Given the description of an element on the screen output the (x, y) to click on. 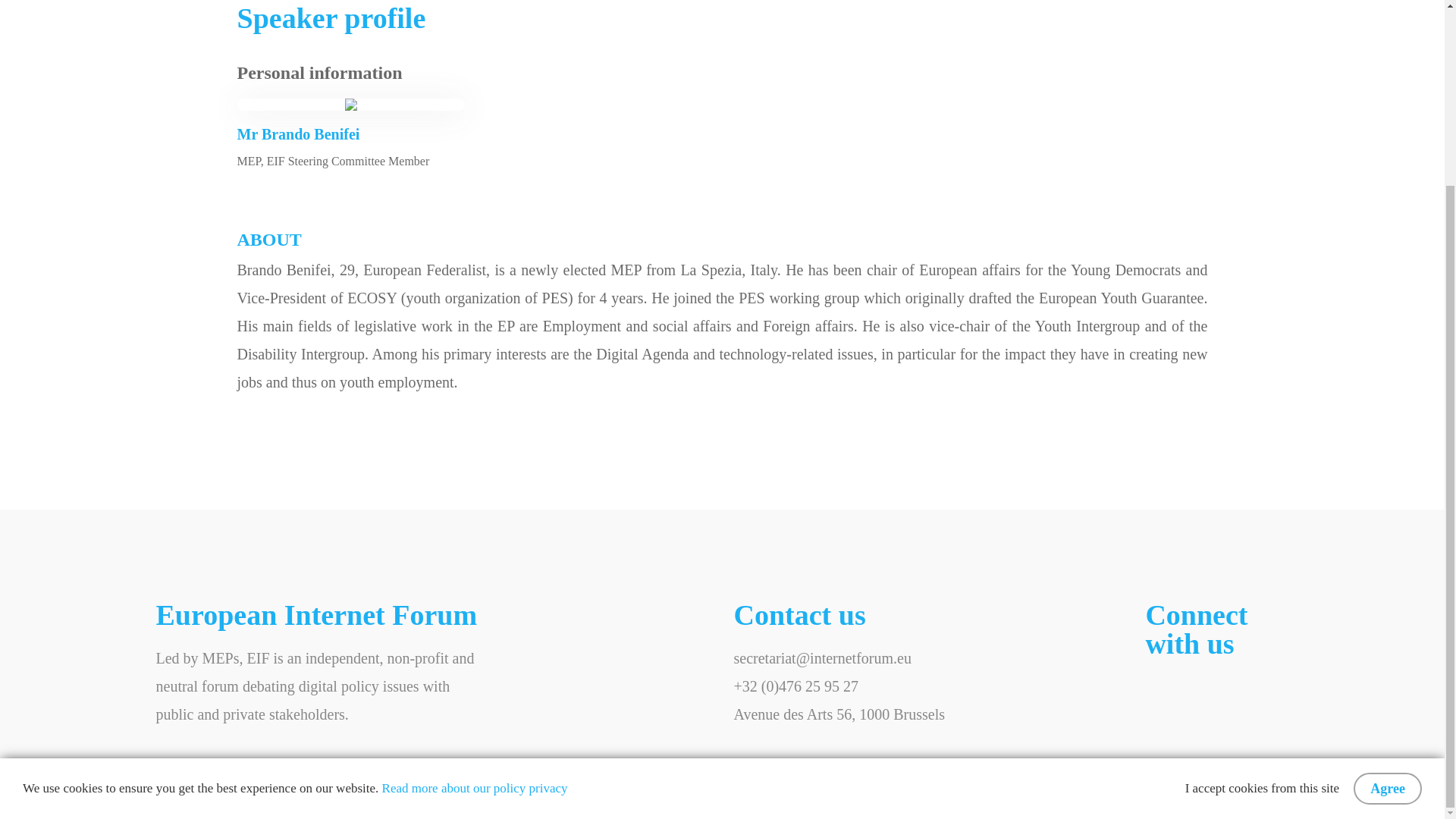
Read more about our policy privacy (474, 558)
Agree (1388, 558)
DISCLAIMER (197, 799)
TRANSPARENCY REGISTER (471, 799)
PRIVACY POLICY (311, 799)
